Given the description of an element on the screen output the (x, y) to click on. 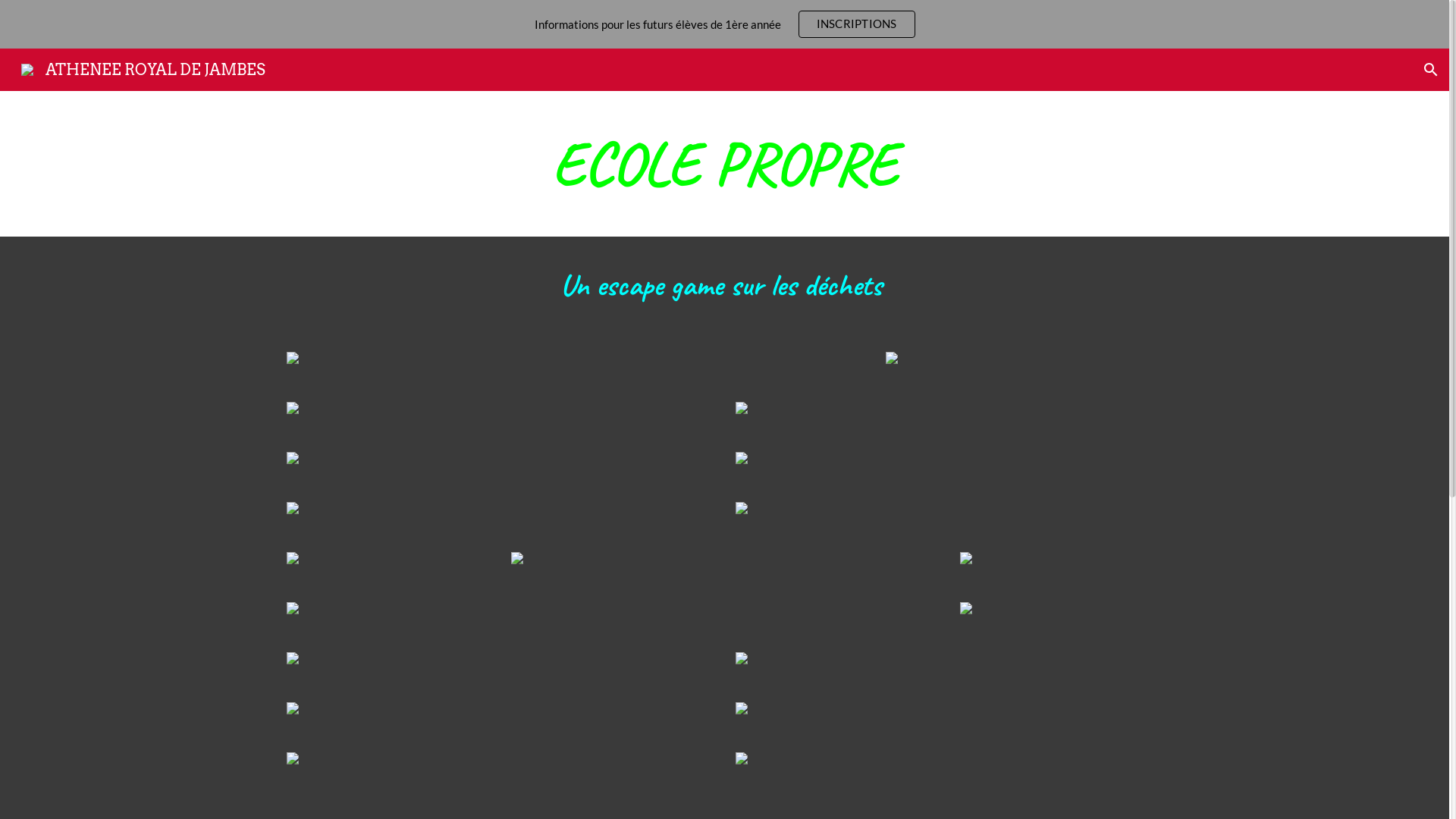
ATHENEE ROYAL DE JAMBES Element type: text (143, 68)
INSCRIPTIONS Element type: text (856, 24)
